Given the description of an element on the screen output the (x, y) to click on. 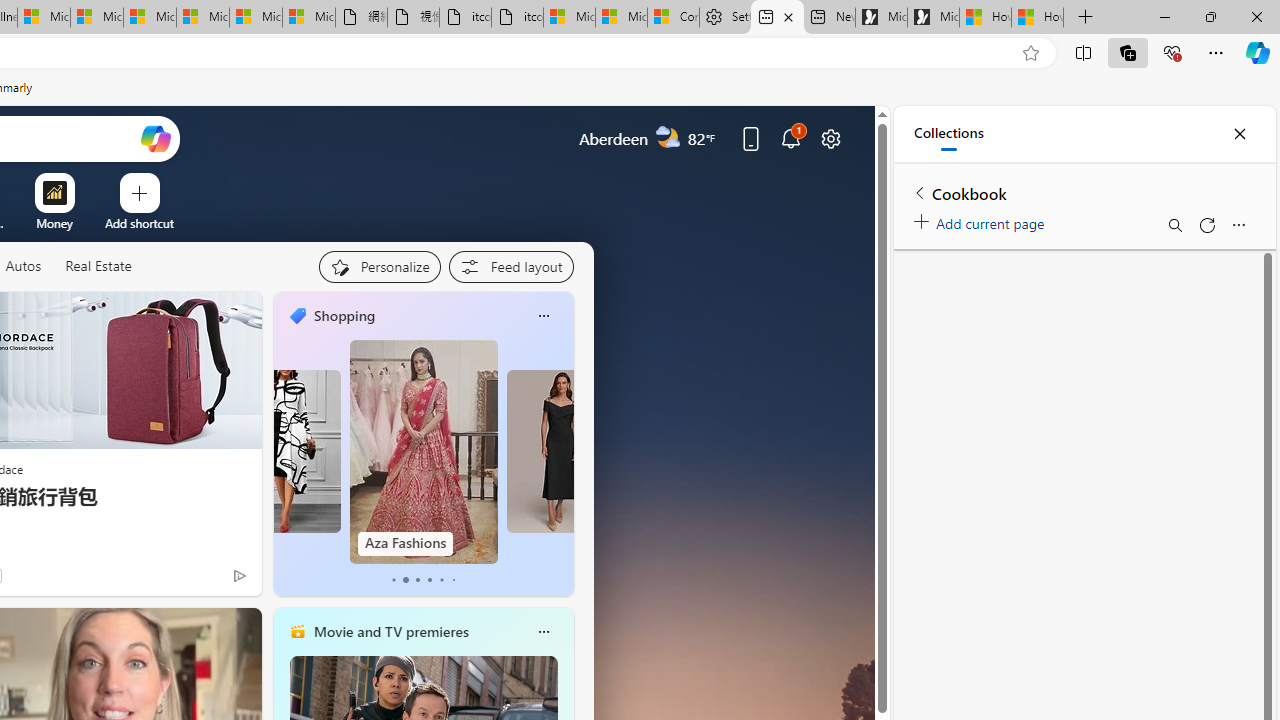
More options menu (1238, 224)
tab-3 (429, 579)
tab-4 (441, 579)
Class: icon-img (543, 632)
Consumer Health Data Privacy Policy (672, 17)
Add current page (982, 219)
